Given the description of an element on the screen output the (x, y) to click on. 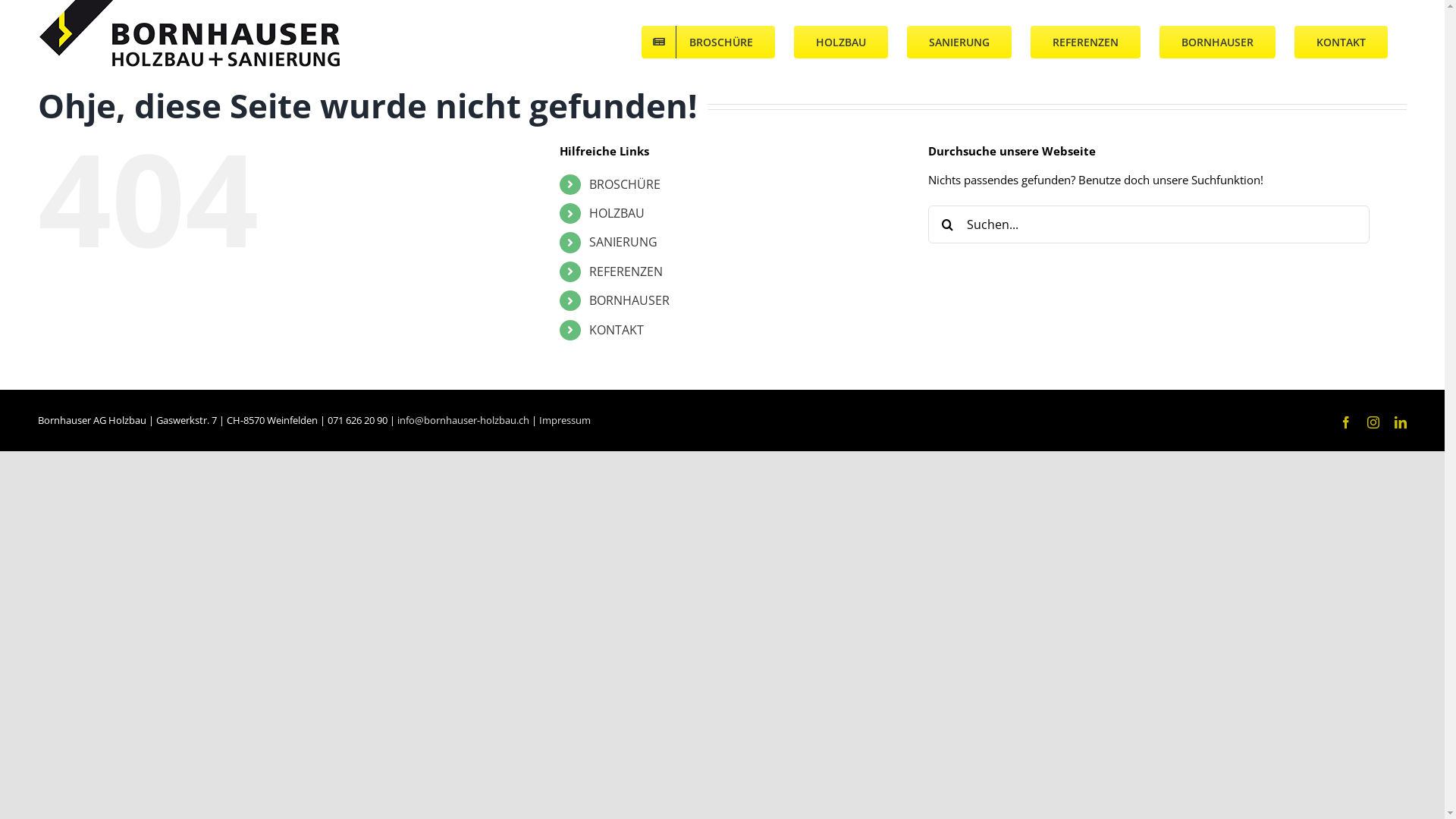
KONTAKT Element type: text (616, 329)
HOLZBAU Element type: text (840, 41)
Facebook Element type: text (1345, 422)
SANIERUNG Element type: text (623, 241)
SANIERUNG Element type: text (958, 41)
KONTAKT Element type: text (1340, 41)
Instagram Element type: text (1373, 422)
LinkedIn Element type: text (1400, 422)
BORNHAUSER Element type: text (1217, 41)
HOLZBAU Element type: text (616, 212)
info@bornhauser-holzbau.ch Element type: text (463, 419)
REFERENZEN Element type: text (625, 271)
Impressum Element type: text (564, 419)
BORNHAUSER Element type: text (629, 299)
REFERENZEN Element type: text (1085, 41)
